Given the description of an element on the screen output the (x, y) to click on. 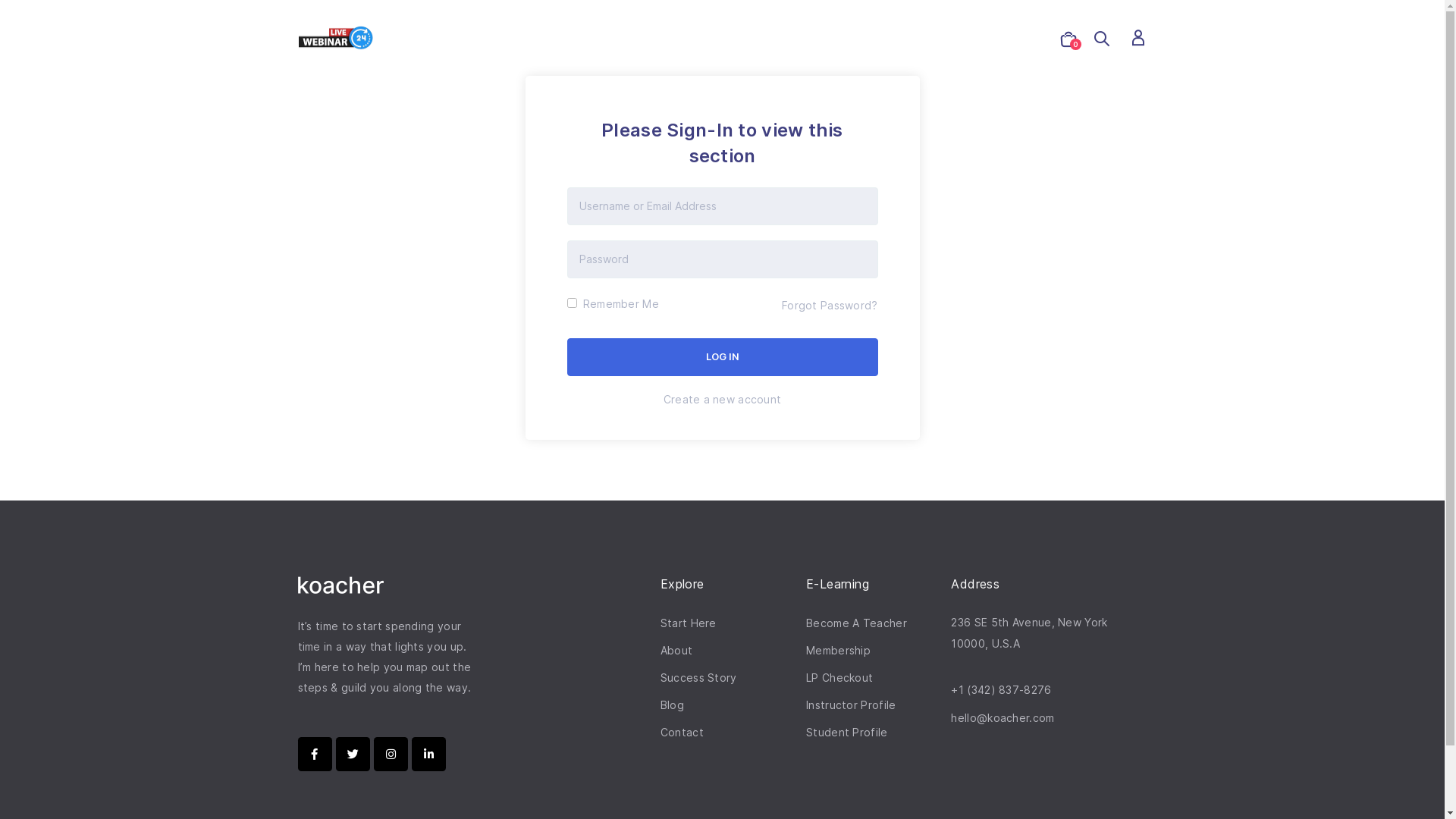
Log In Element type: text (722, 357)
Create a new account Element type: text (722, 398)
Start Here Element type: text (725, 623)
Blog Element type: text (725, 704)
Membership Element type: text (870, 650)
Instructor Profile Element type: text (870, 704)
Become A Teacher Element type: text (870, 623)
Forgot Password? Element type: text (829, 304)
+1 (342) 837-8276 Element type: text (1029, 689)
About Element type: text (725, 650)
Contact Element type: text (725, 732)
Student Profile Element type: text (870, 732)
Success Story Element type: text (725, 677)
0 Element type: text (1068, 41)
LP Checkout Element type: text (870, 677)
hello@koacher.com Element type: text (1029, 717)
